Given the description of an element on the screen output the (x, y) to click on. 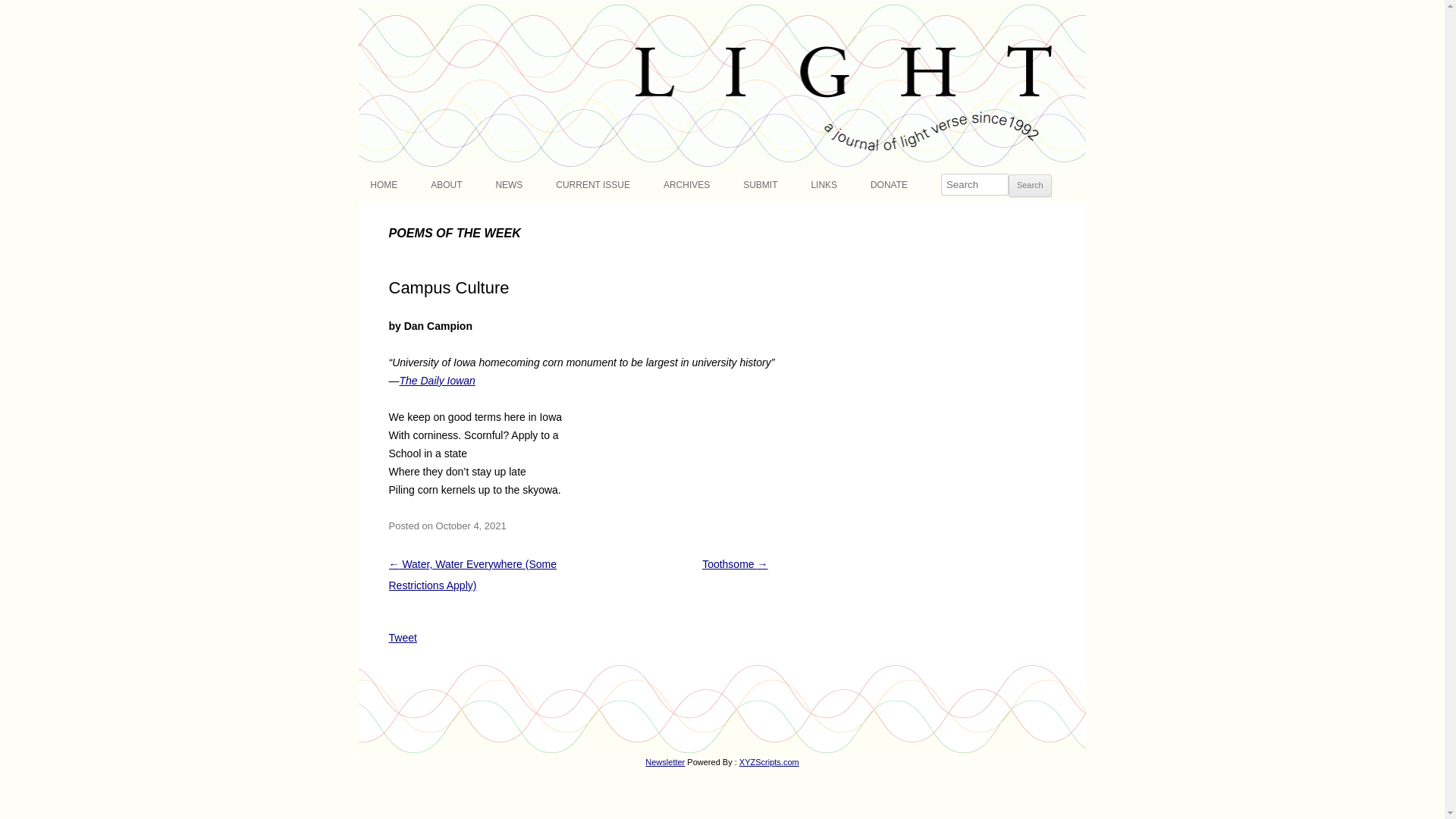
The Daily Iowan (436, 380)
Light (382, 9)
DONATE (888, 184)
ABOUT (445, 184)
Tweet (402, 637)
Light (382, 9)
ARCHIVES (686, 184)
Search (1030, 185)
